Given the description of an element on the screen output the (x, y) to click on. 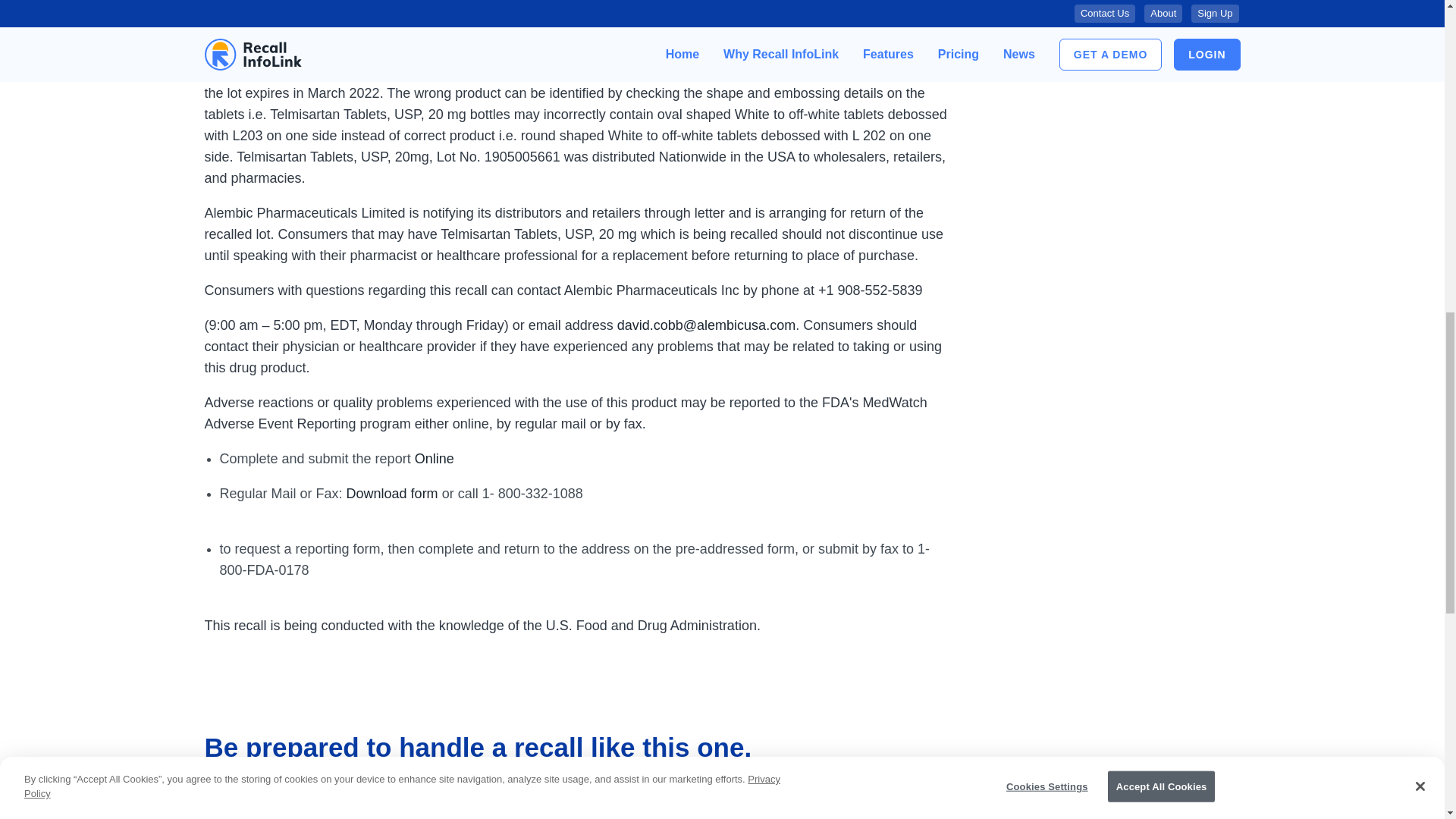
SIGN UP (370, 804)
GET A DEMO (256, 804)
Online (434, 458)
Download form (392, 493)
